Given the description of an element on the screen output the (x, y) to click on. 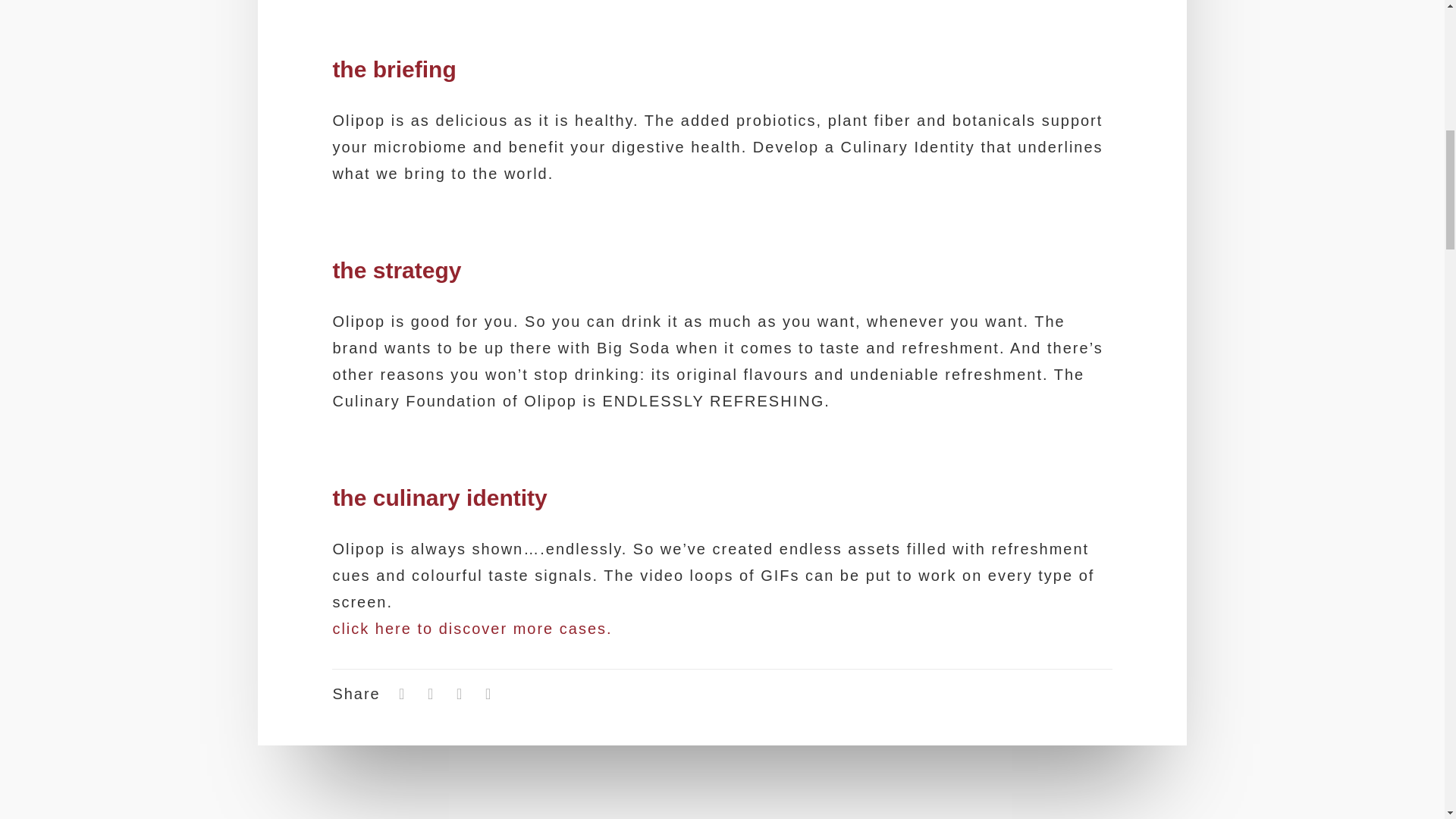
click here to discover more cases. (471, 628)
